Given the description of an element on the screen output the (x, y) to click on. 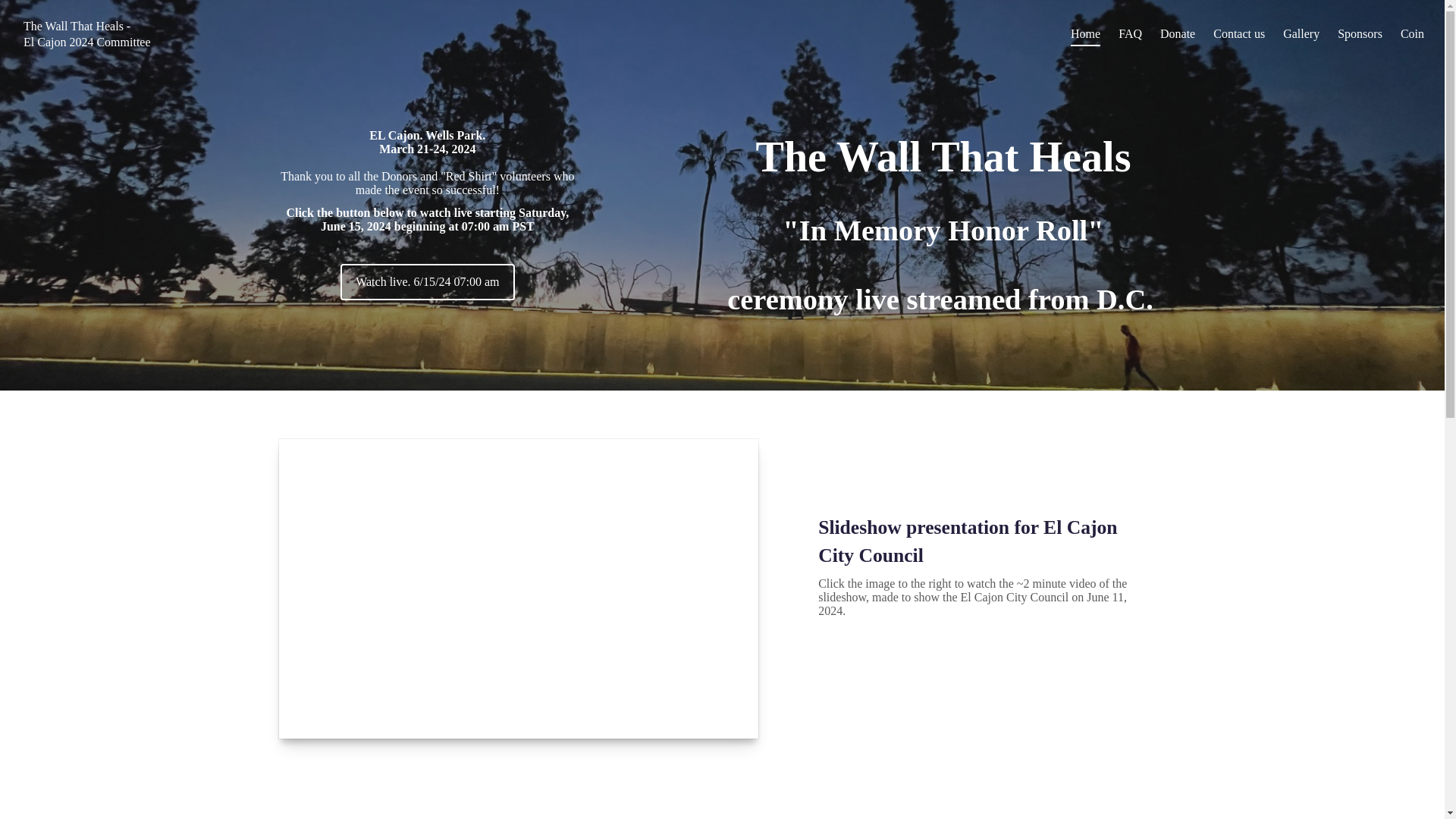
Donate (1177, 33)
FAQ (1129, 33)
Coin (1411, 33)
Gallery (1300, 33)
Contact us (1238, 33)
Sponsors (1359, 33)
Home (1085, 33)
